Given the description of an element on the screen output the (x, y) to click on. 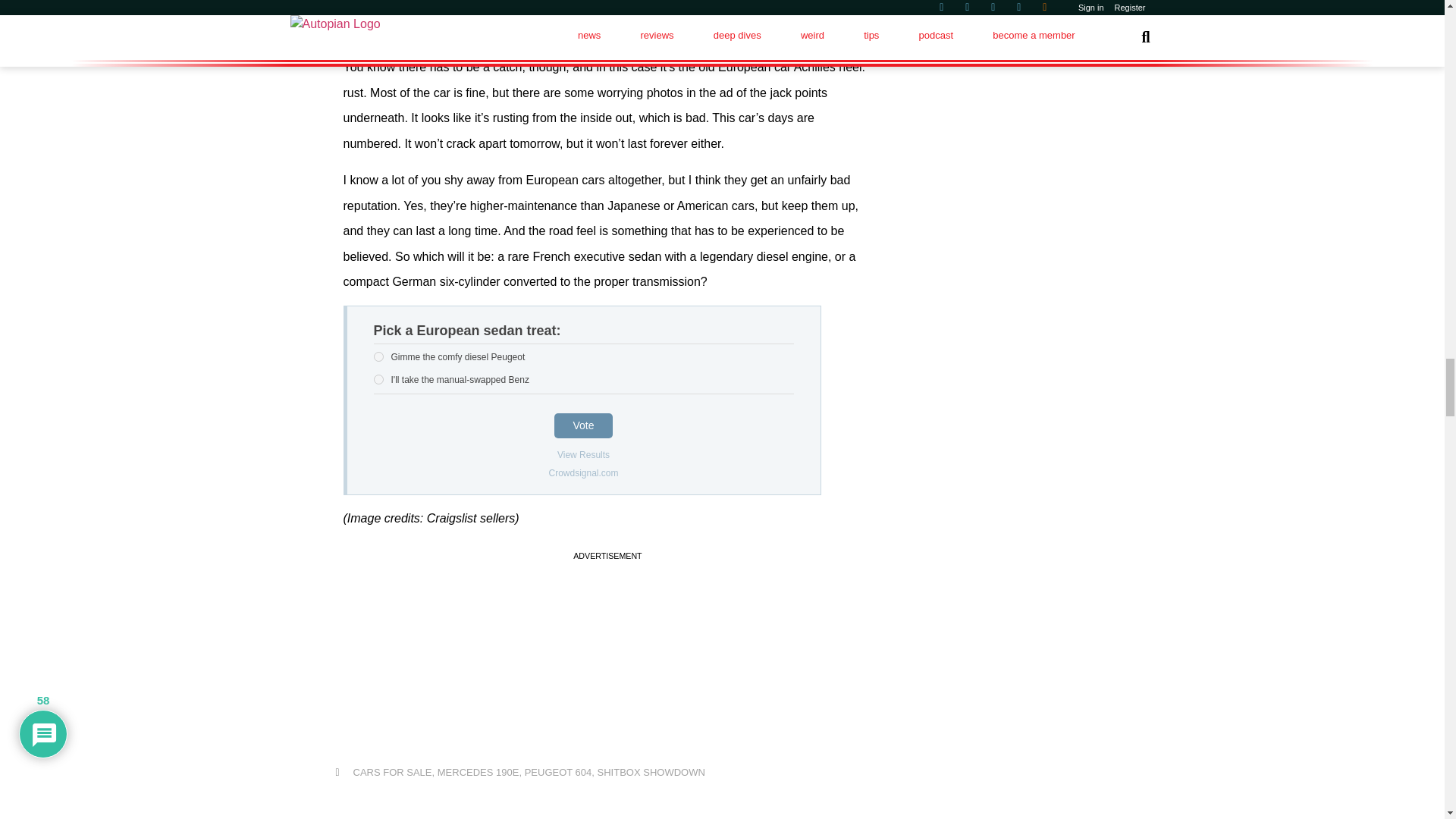
58854014 (377, 379)
58854013 (377, 356)
